Given the description of an element on the screen output the (x, y) to click on. 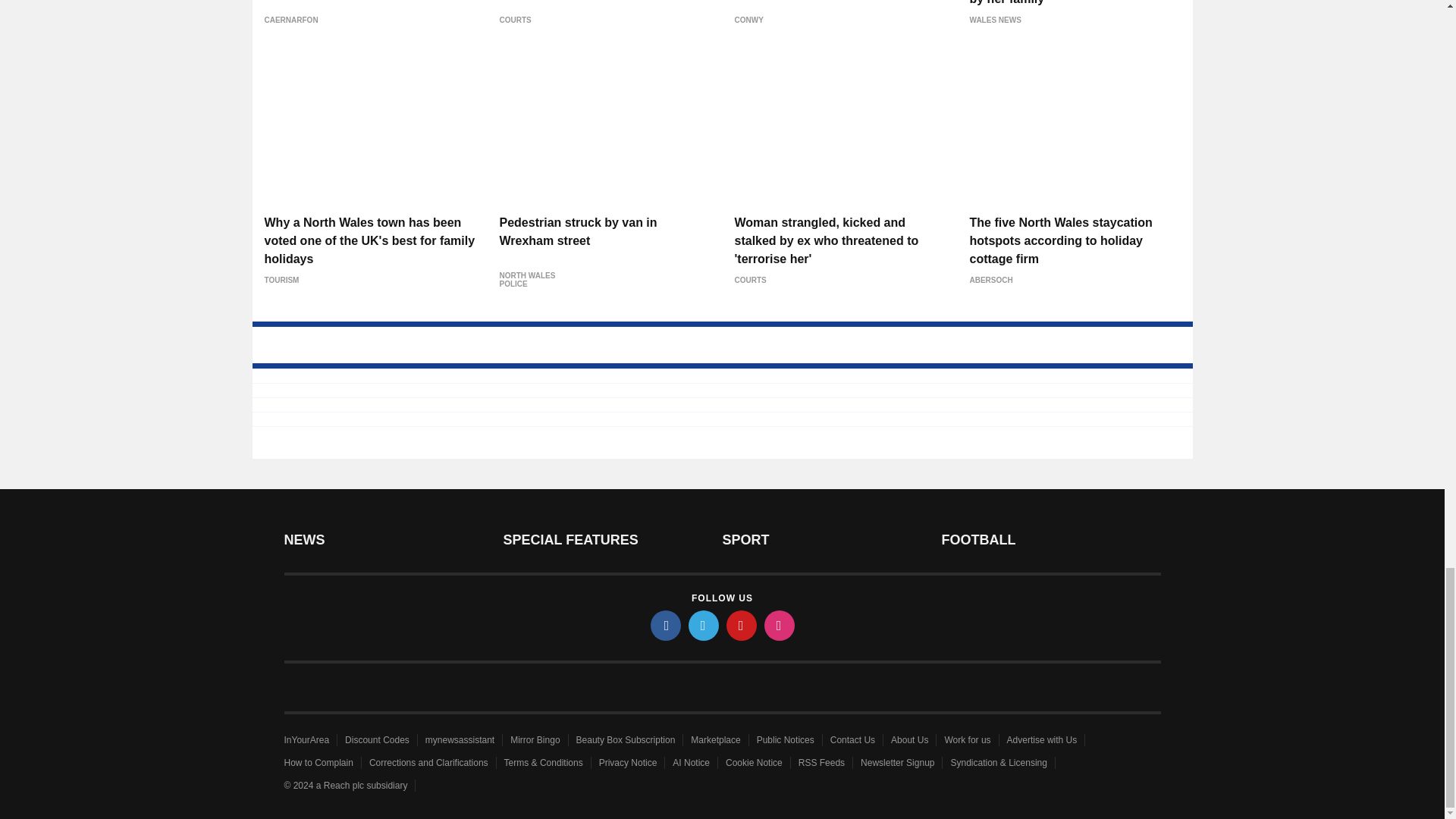
twitter (703, 625)
facebook (665, 625)
instagram (779, 625)
pinterest (741, 625)
